Given the description of an element on the screen output the (x, y) to click on. 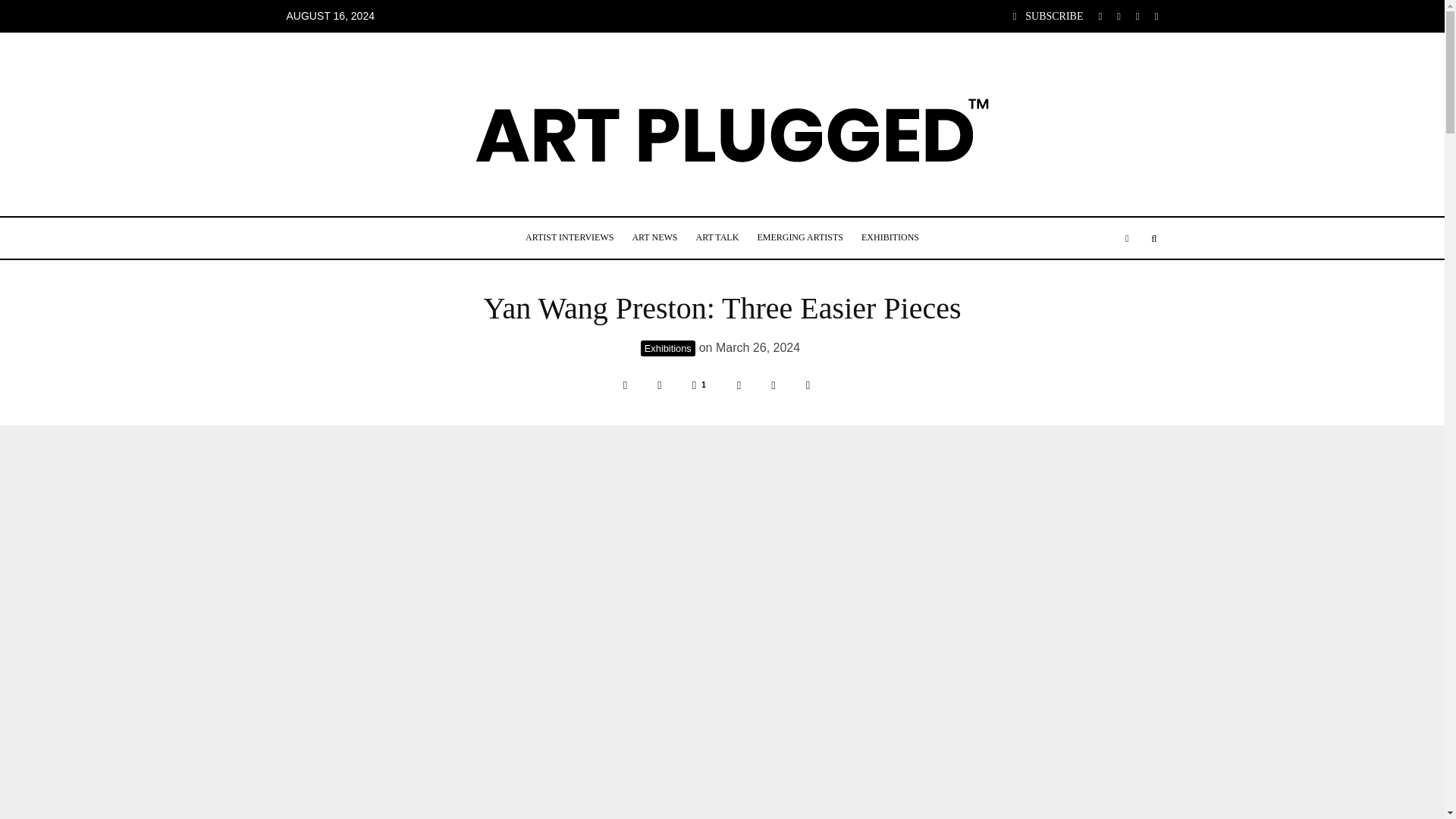
ARTIST INTERVIEWS (569, 237)
EMERGING ARTISTS (799, 237)
ART NEWS (654, 237)
SUBSCRIBE (1048, 16)
ART TALK (716, 237)
